Given the description of an element on the screen output the (x, y) to click on. 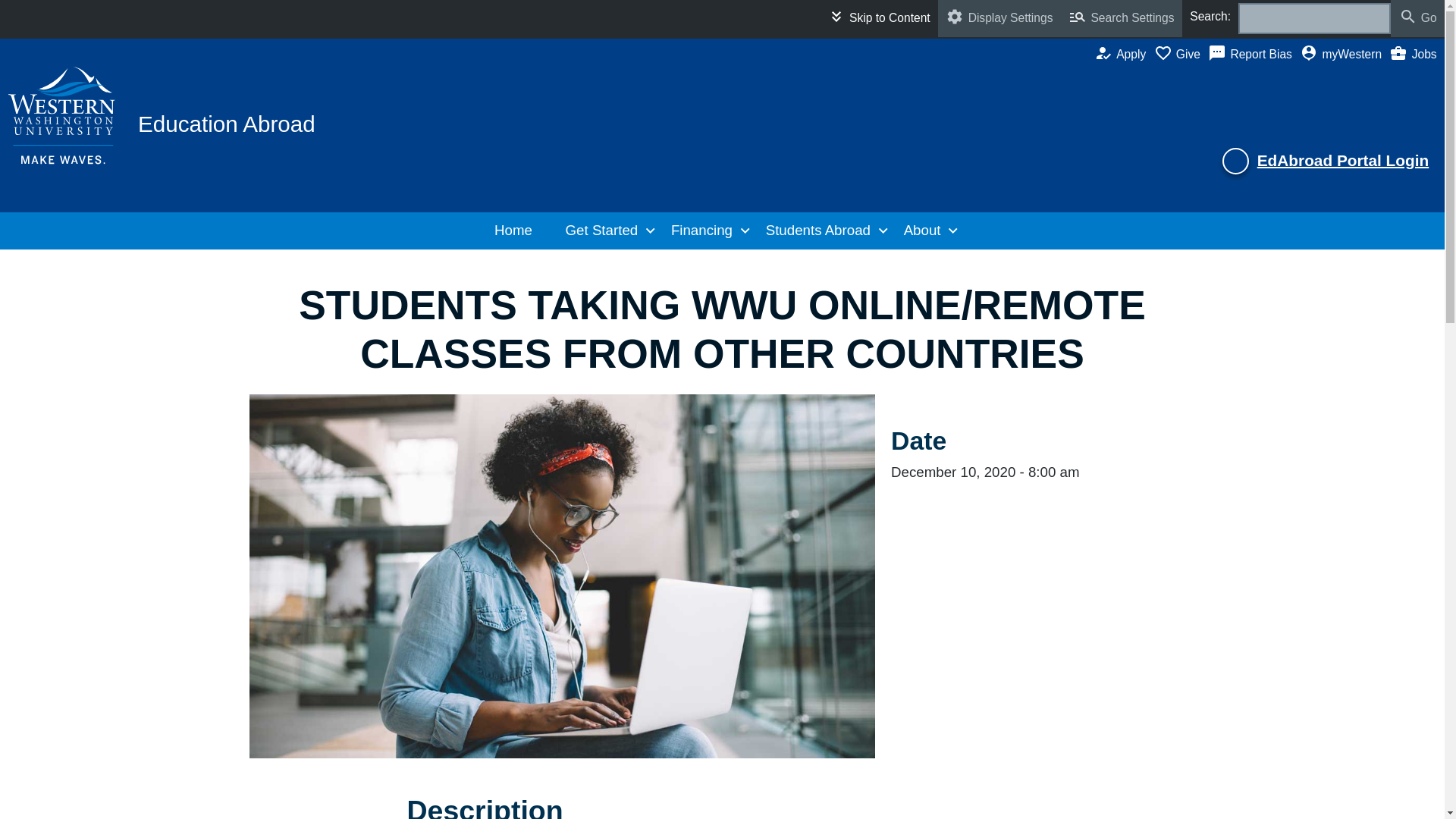
Education Abroad (226, 123)
Apply (1124, 55)
Skip to Content (877, 18)
Get Started (606, 231)
Search Settings (1121, 18)
Western Logo (63, 115)
Home (517, 231)
Report Bias (1254, 55)
Give (1181, 55)
myWestern (1344, 55)
Display Settings (999, 18)
